Given the description of an element on the screen output the (x, y) to click on. 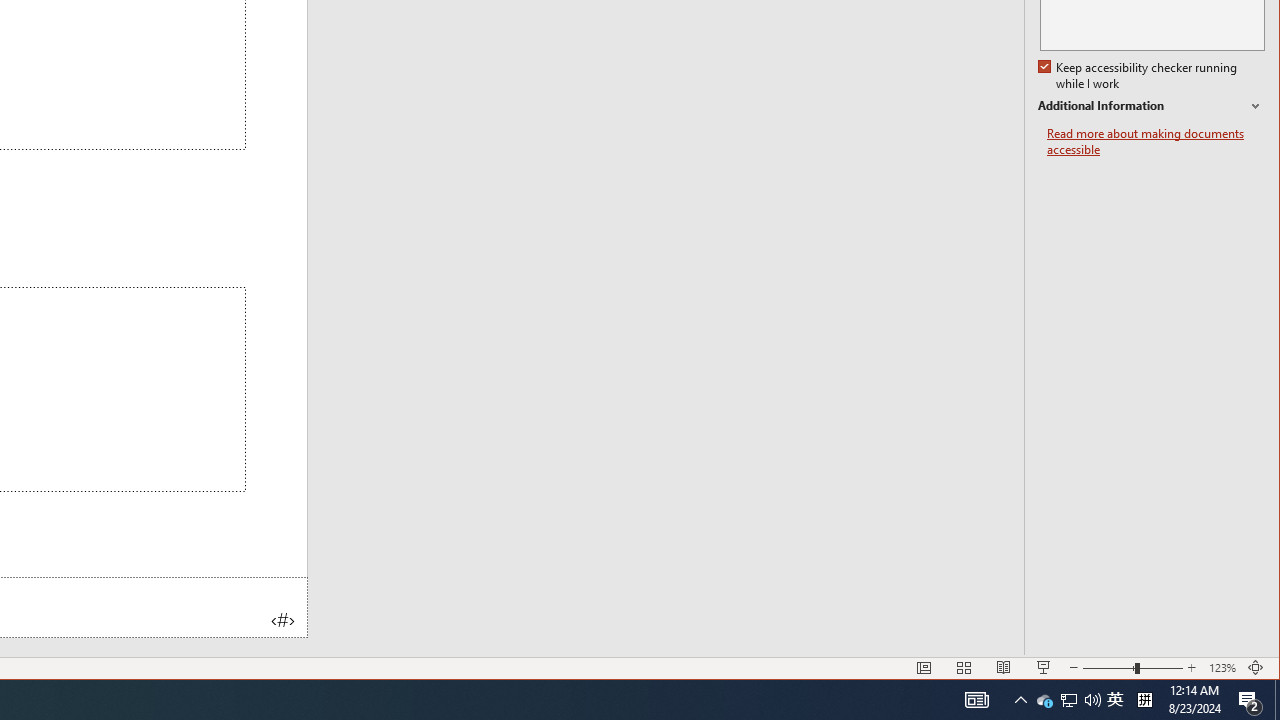
Zoom 123% (1222, 668)
